Given the description of an element on the screen output the (x, y) to click on. 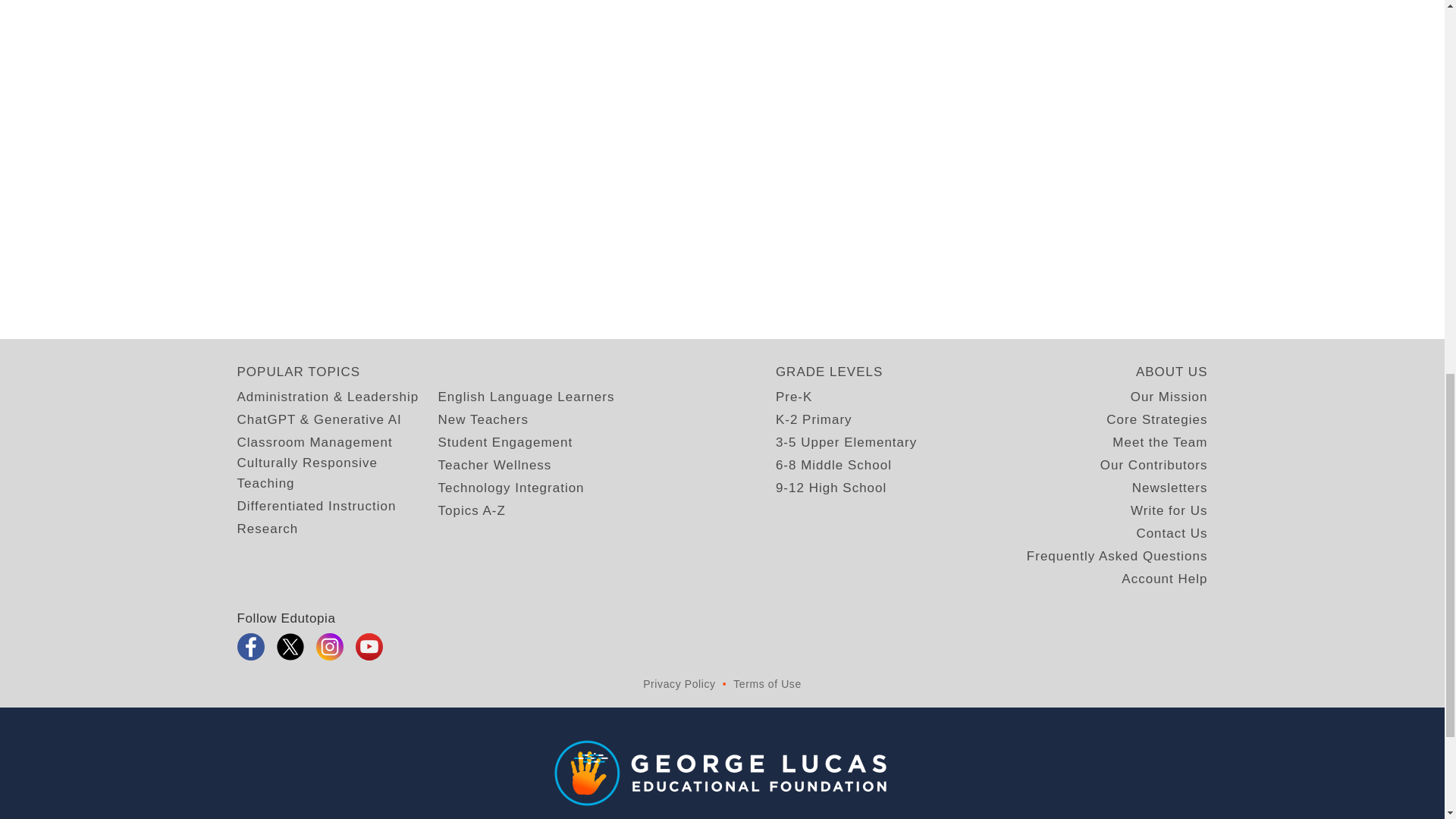
K-2 Primary (813, 419)
Teacher Wellness (494, 465)
Core Strategies (1156, 419)
Meet the Team (1159, 442)
Research (266, 528)
Contact Us (1171, 533)
6-8 Middle School (833, 465)
Differentiated Instruction (315, 506)
Our Mission (1169, 396)
Technology Integration (511, 487)
